Given the description of an element on the screen output the (x, y) to click on. 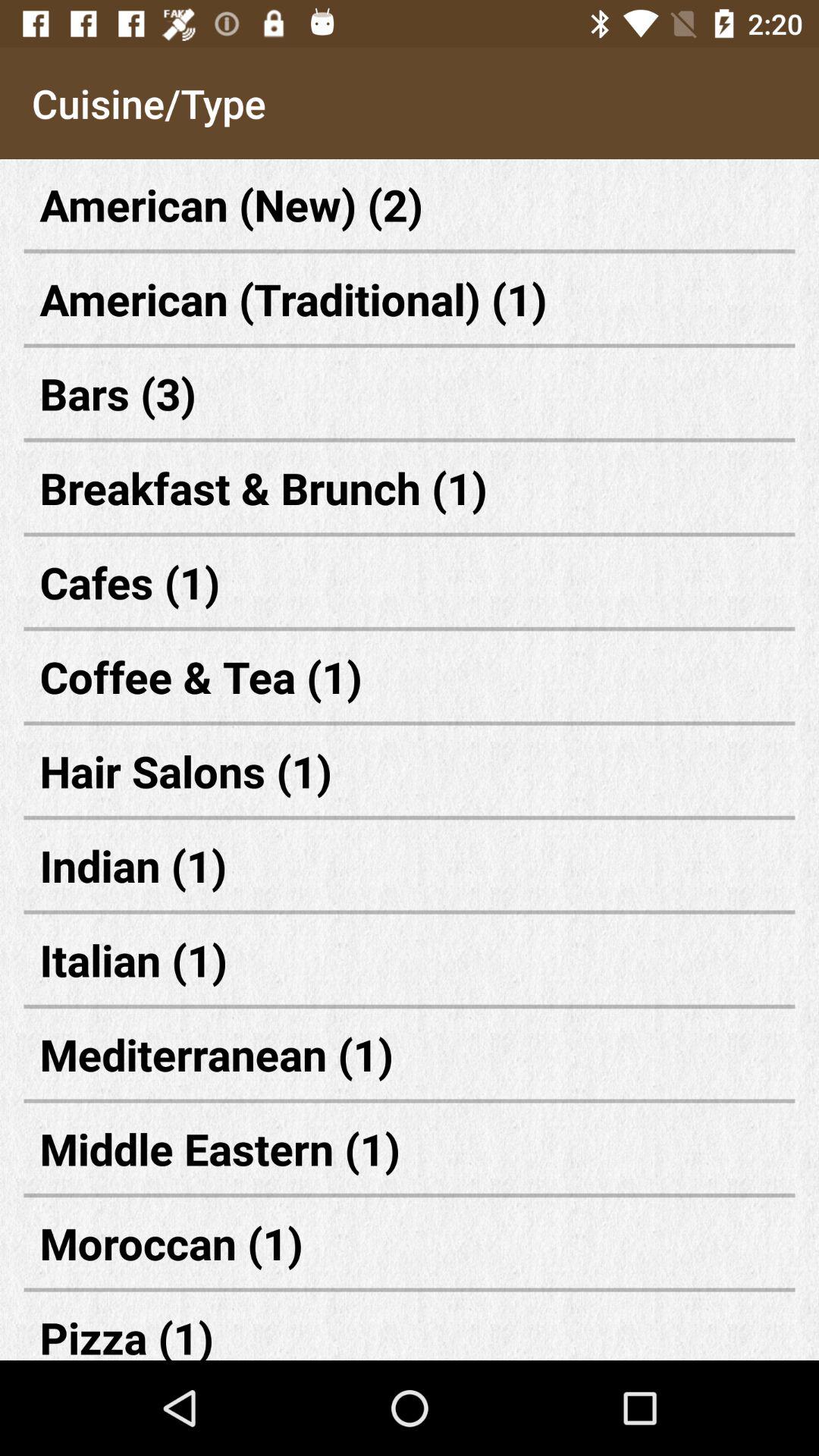
click the icon below the cafes (1) item (409, 676)
